Given the description of an element on the screen output the (x, y) to click on. 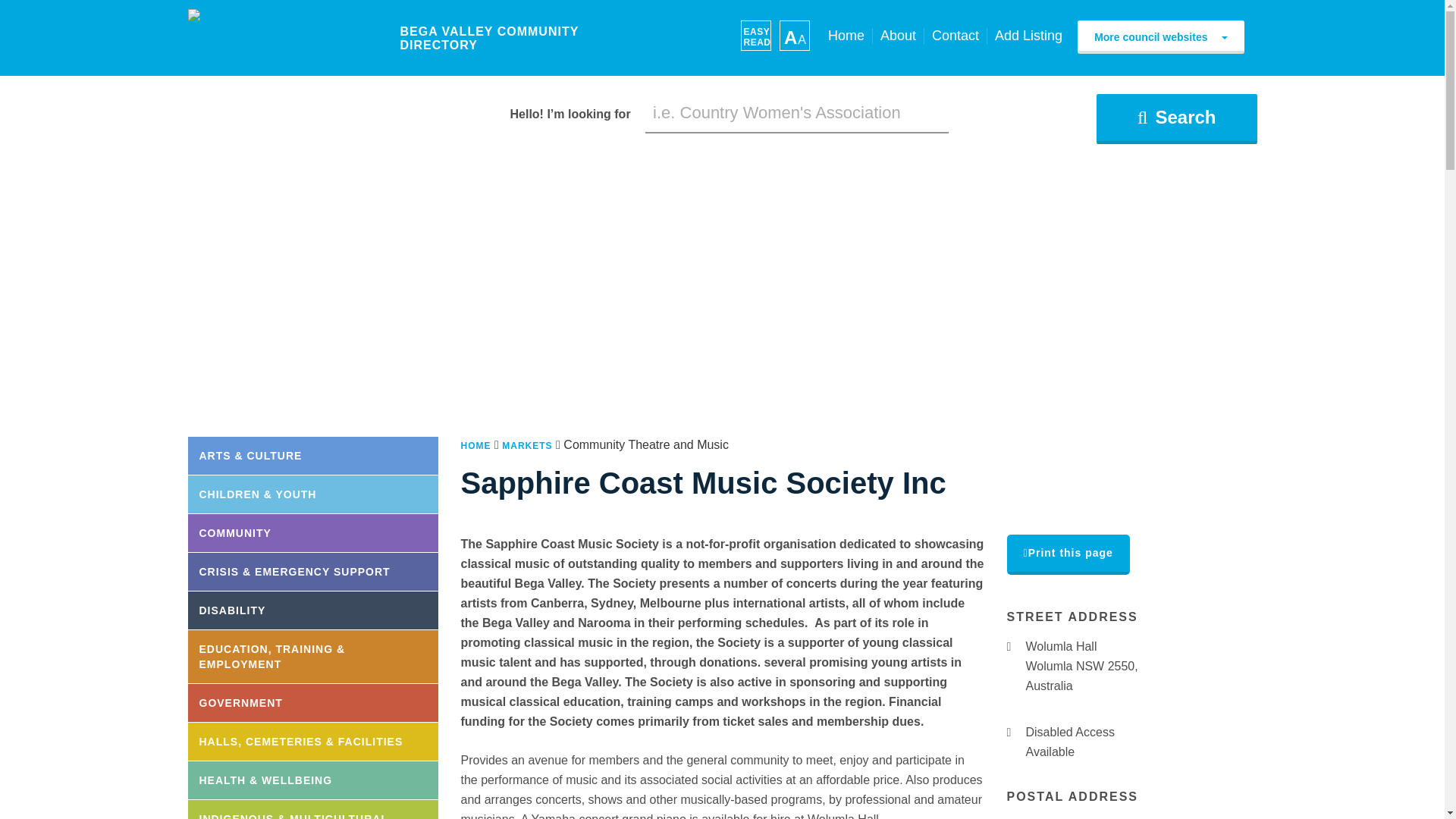
Disabled Access (1012, 732)
Contact (954, 35)
Add Listing (1028, 35)
Home (846, 35)
AA (793, 35)
Search (1176, 119)
About (897, 35)
BEGA VALLEY COMMUNITY DIRECTORY (429, 38)
EASY READ (754, 35)
More council websites (1160, 37)
